Given the description of an element on the screen output the (x, y) to click on. 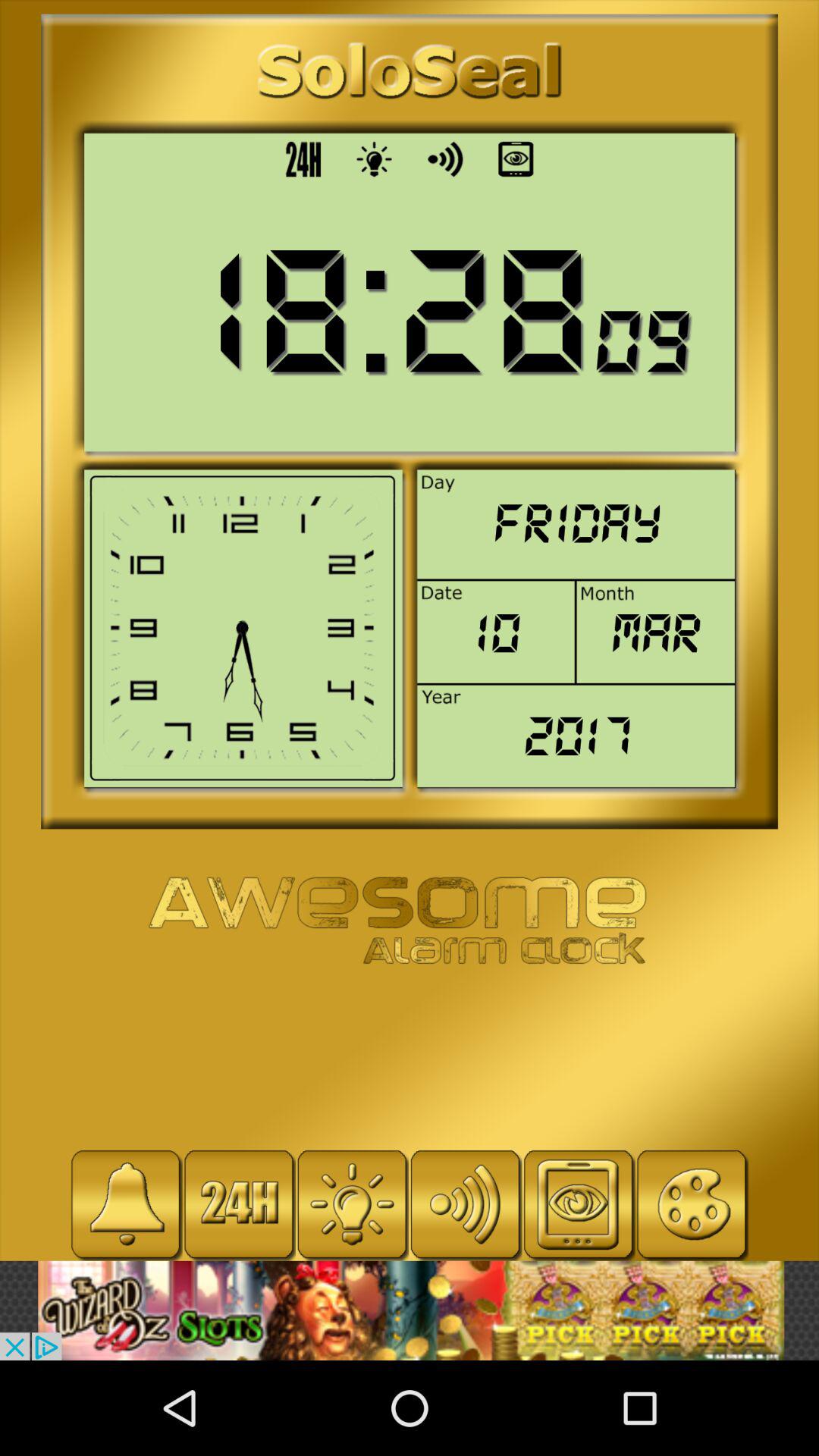
view blink option (238, 1203)
